Given the description of an element on the screen output the (x, y) to click on. 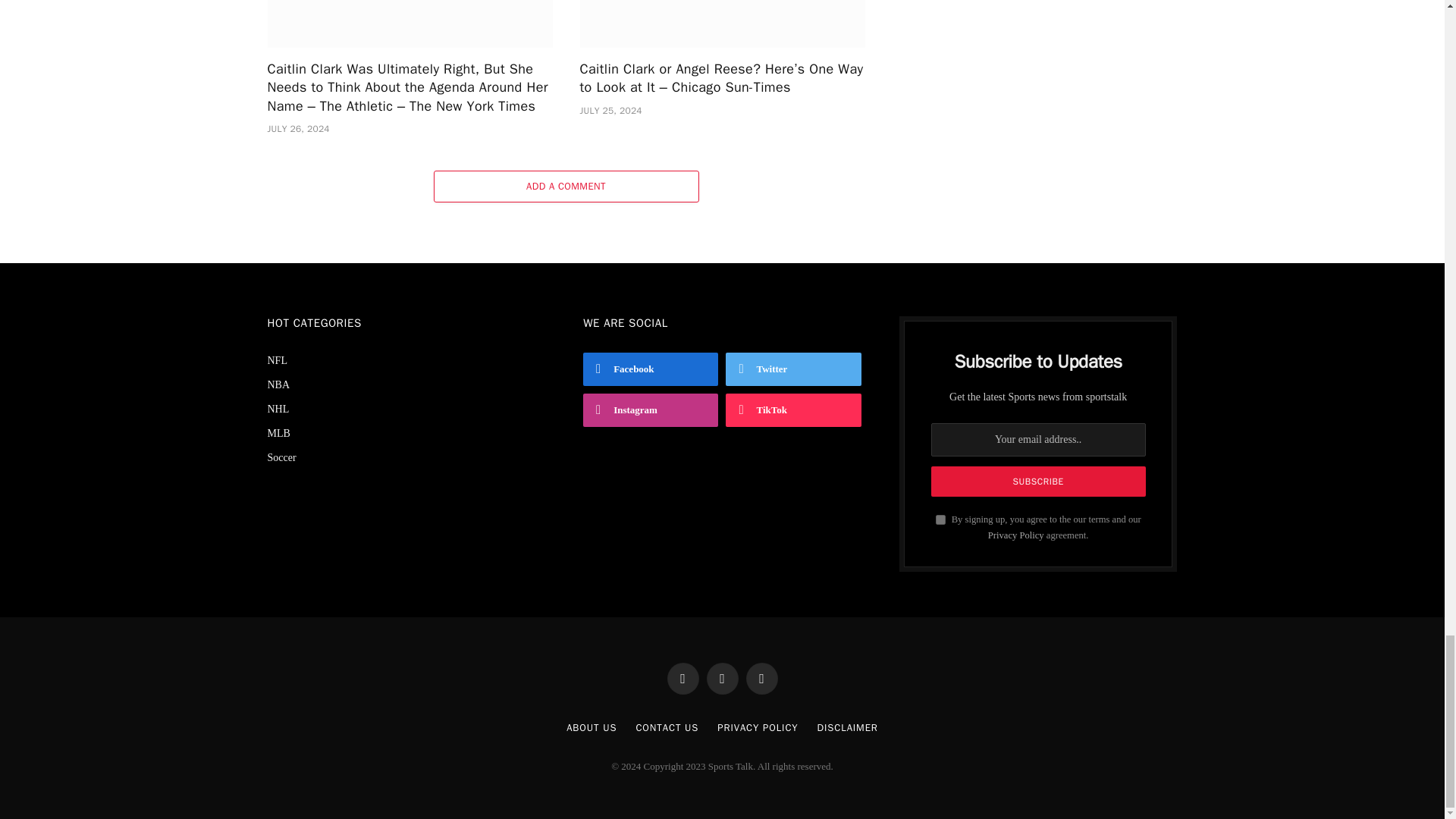
on (940, 519)
Subscribe (1038, 481)
